Given the description of an element on the screen output the (x, y) to click on. 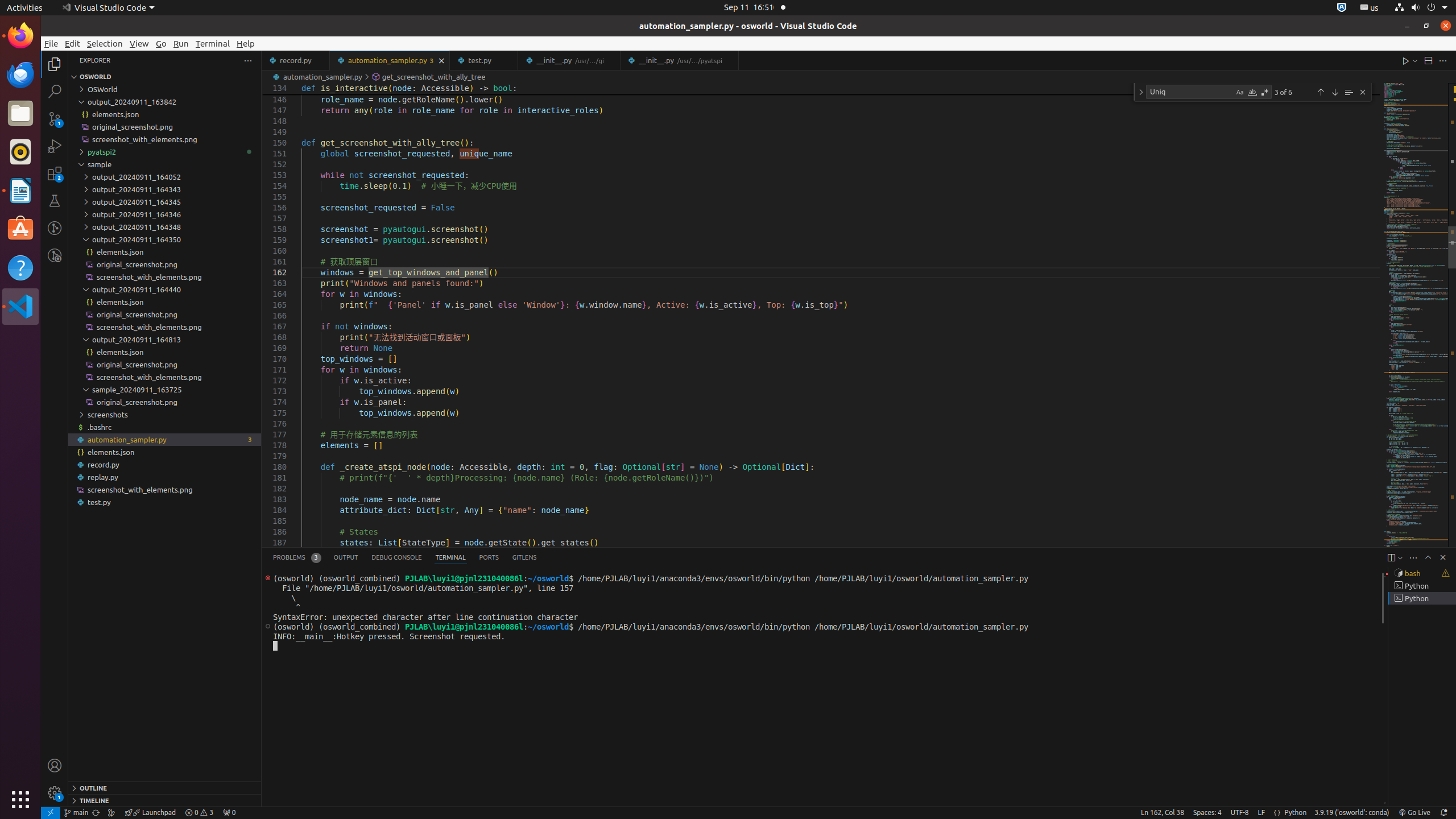
Split Editor Right (Ctrl+\) [Alt] Split Editor Down Element type: push-button (1427, 60)
Accounts Element type: push-button (54, 765)
Match Case (Alt+C) Element type: check-box (1239, 91)
.bashrc Element type: tree-item (164, 426)
Testing Element type: page-tab (54, 200)
